Given the description of an element on the screen output the (x, y) to click on. 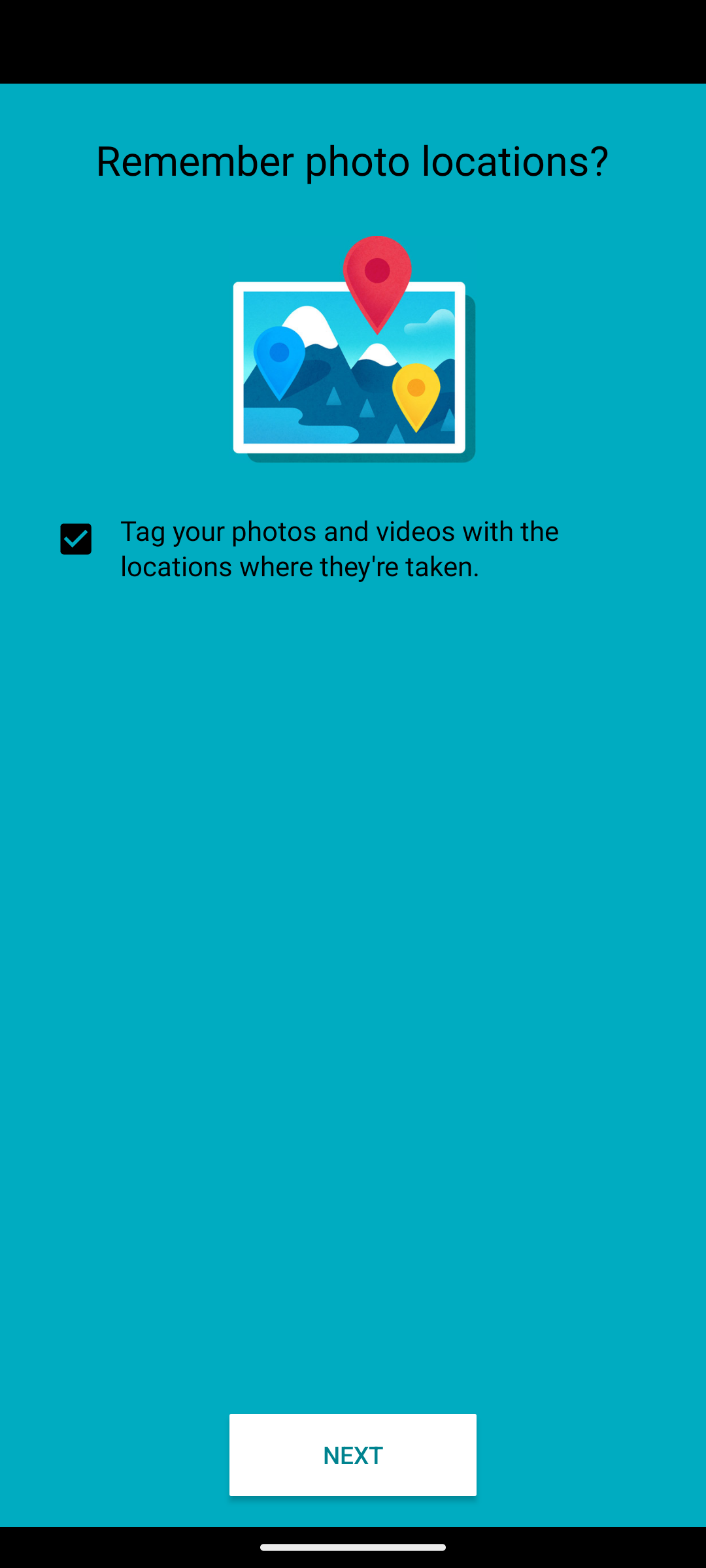
NEXT (352, 1454)
